Given the description of an element on the screen output the (x, y) to click on. 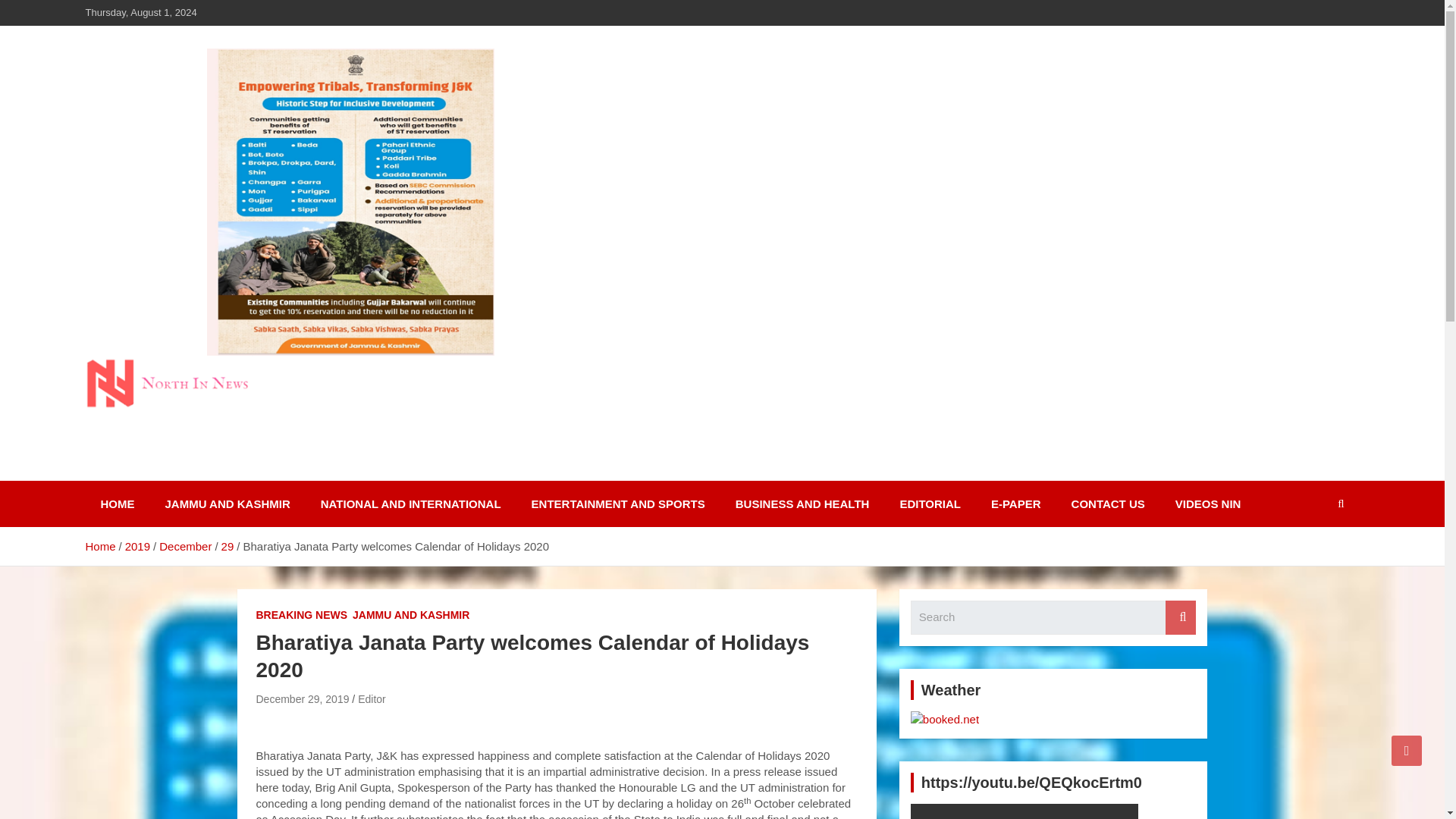
December 29, 2019 (302, 698)
Bharatiya Janata Party welcomes Calendar of Holidays 2020 (302, 698)
2019 (137, 545)
BREAKING NEWS (301, 615)
Go to Top (1406, 750)
CONTACT US (1108, 503)
EDITORIAL (929, 503)
BUSINESS AND HEALTH (802, 503)
ENTERTAINMENT AND SPORTS (618, 503)
29 (227, 545)
JAMMU AND KASHMIR (227, 503)
Editor (371, 698)
North in News (186, 477)
Home (99, 545)
JAMMU AND KASHMIR (410, 615)
